Given the description of an element on the screen output the (x, y) to click on. 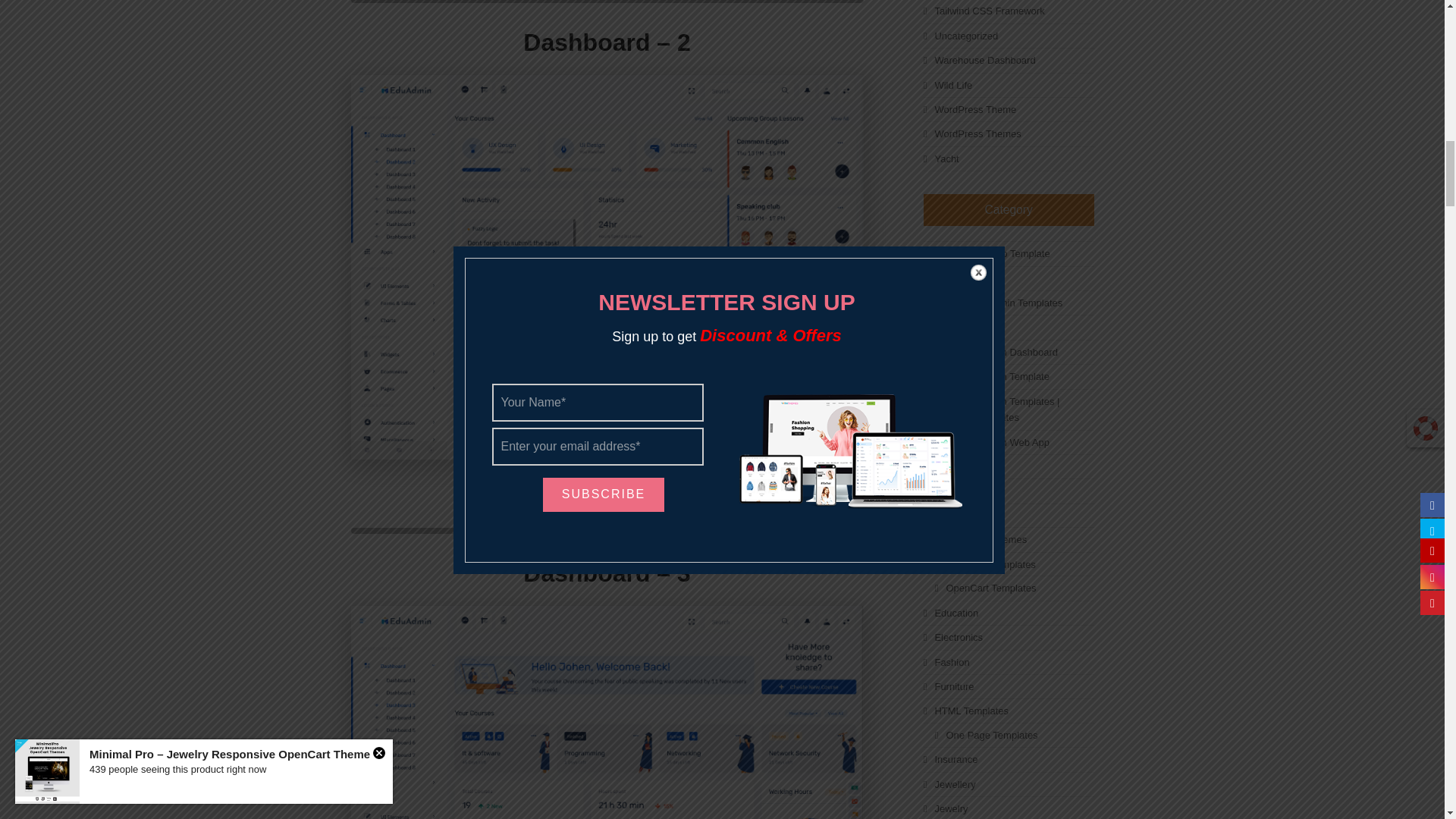
DEMO (686, 495)
